Given the description of an element on the screen output the (x, y) to click on. 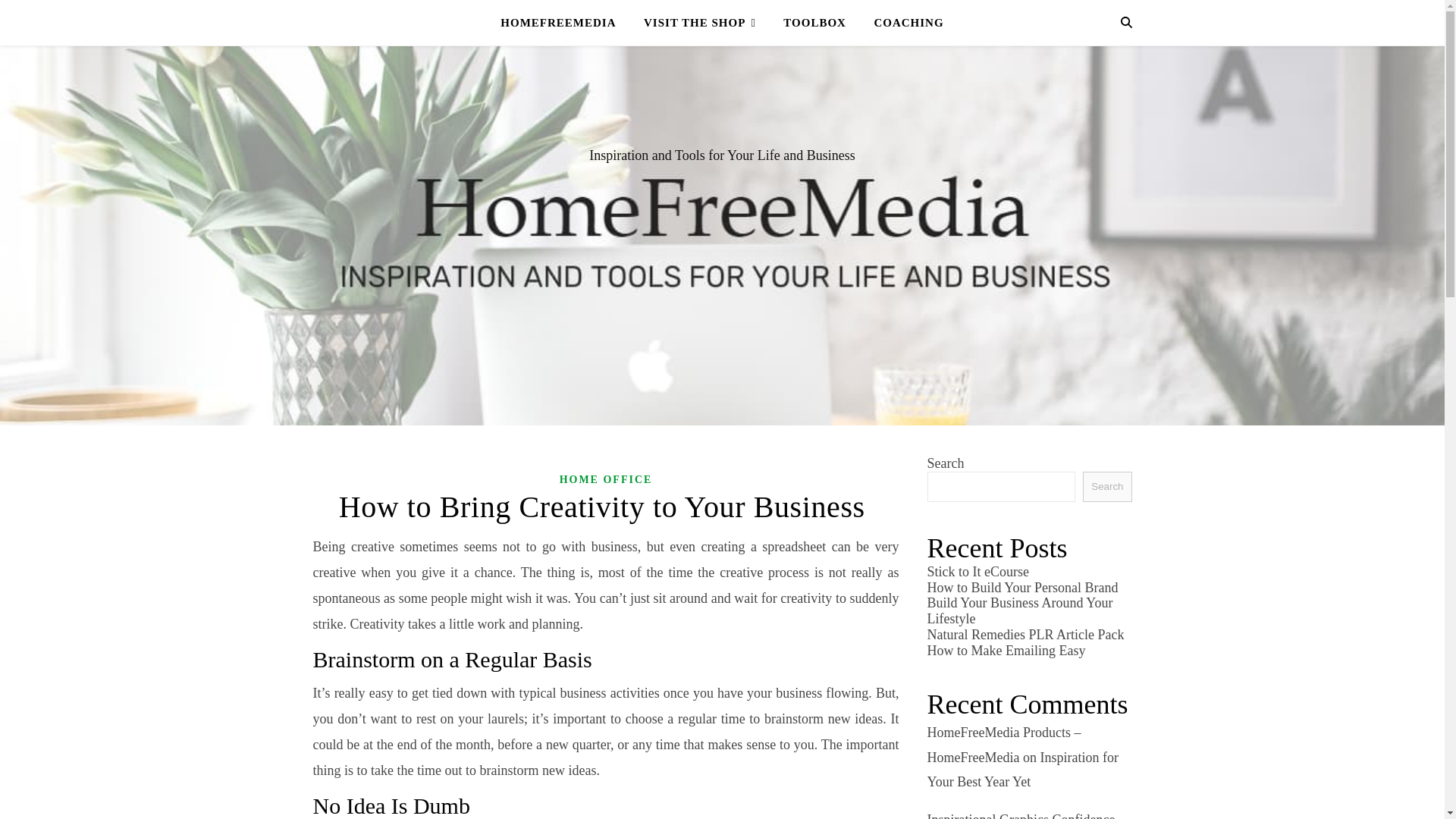
COACHING (902, 22)
HOME OFFICE (605, 479)
TOOLBOX (815, 22)
HOMEFREEMEDIA (563, 22)
VISIT THE SHOP (699, 22)
